Given the description of an element on the screen output the (x, y) to click on. 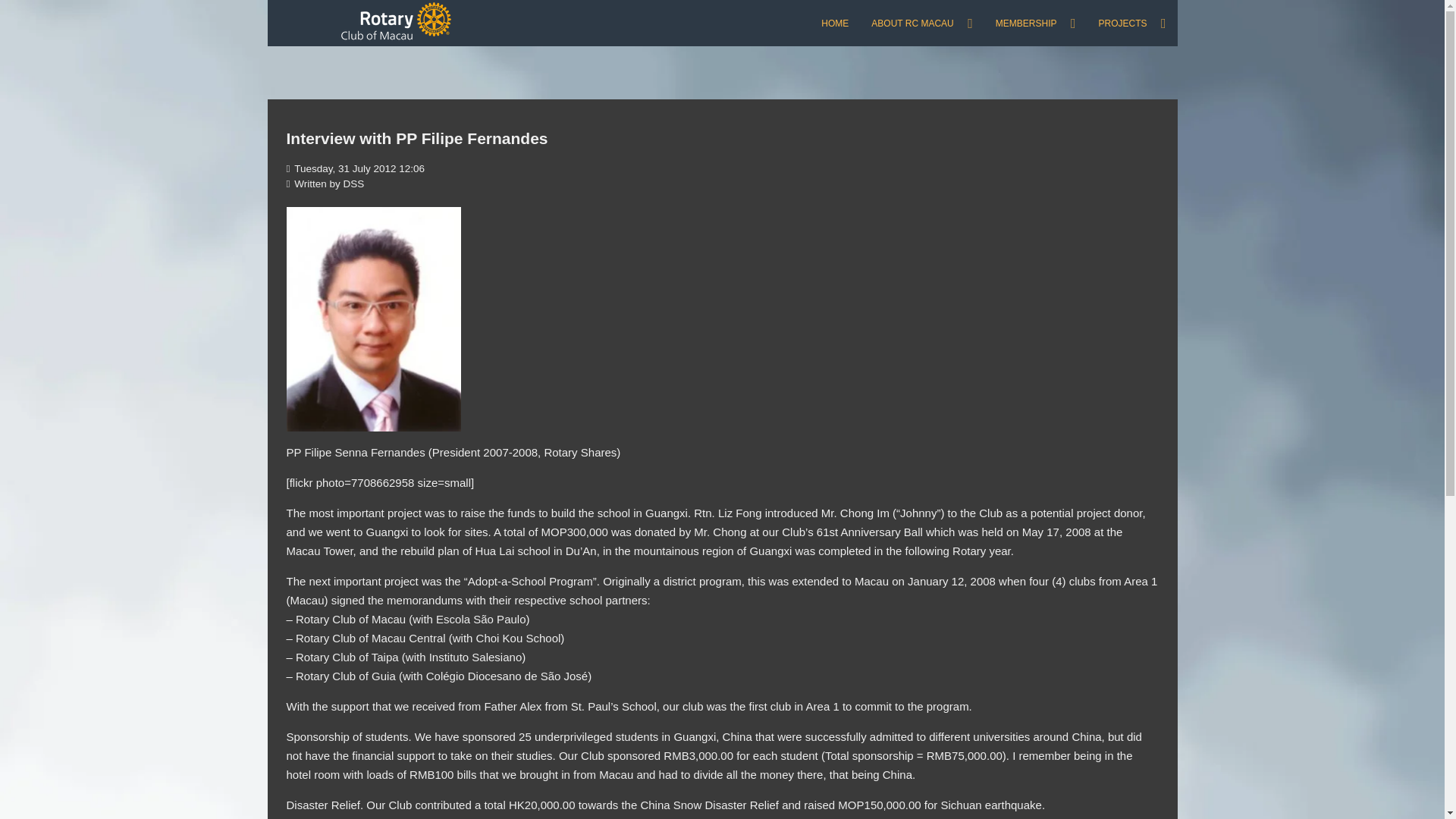
HOME (834, 22)
PROJECTS (1131, 22)
ABOUT RC MACAU (922, 22)
MEMBERSHIP (1035, 22)
